Given the description of an element on the screen output the (x, y) to click on. 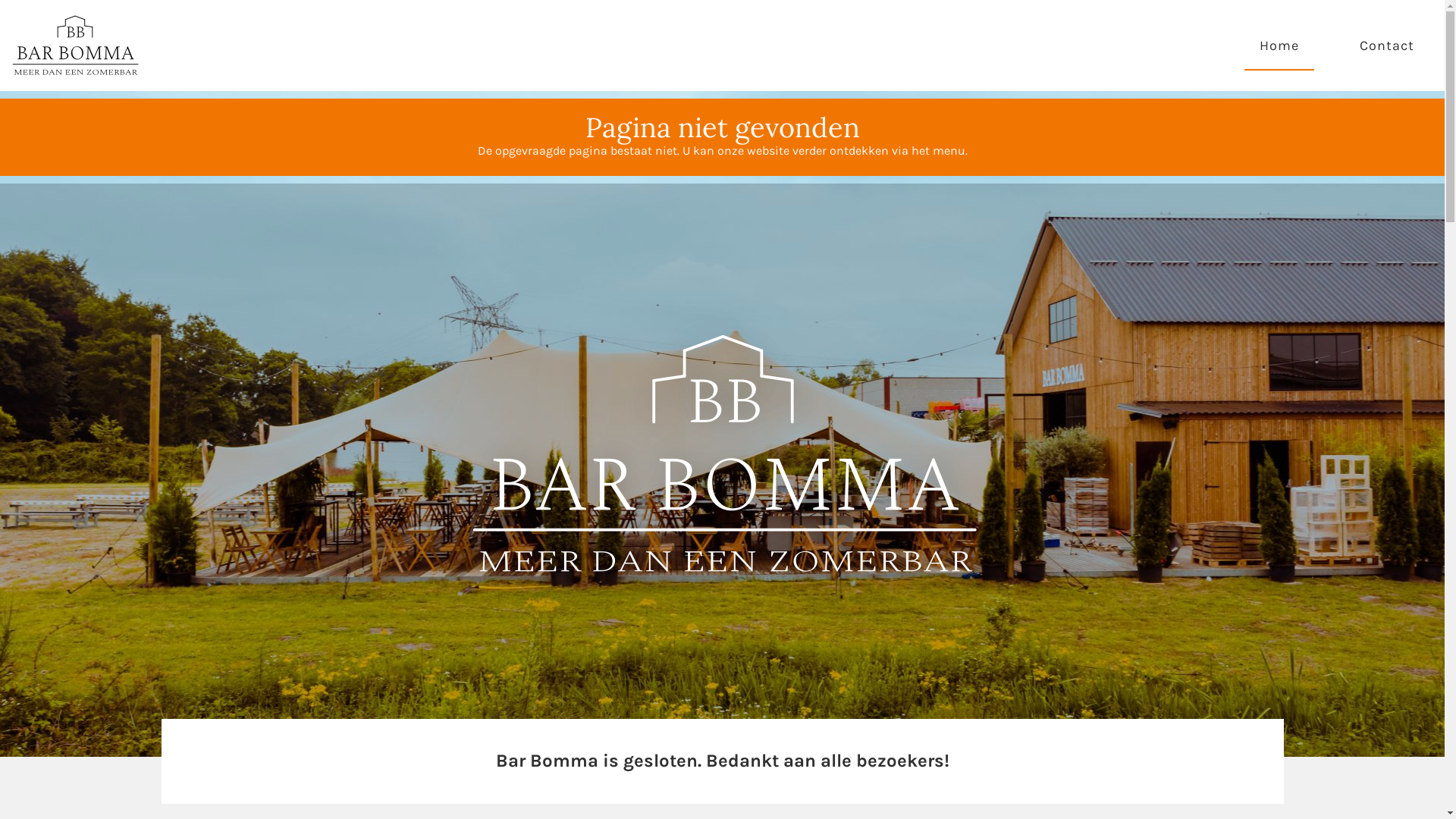
Bar Bomma Element type: hover (75, 45)
Contact Element type: text (1386, 45)
Home Element type: text (1279, 45)
Bar Bomma Element type: hover (721, 469)
